Given the description of an element on the screen output the (x, y) to click on. 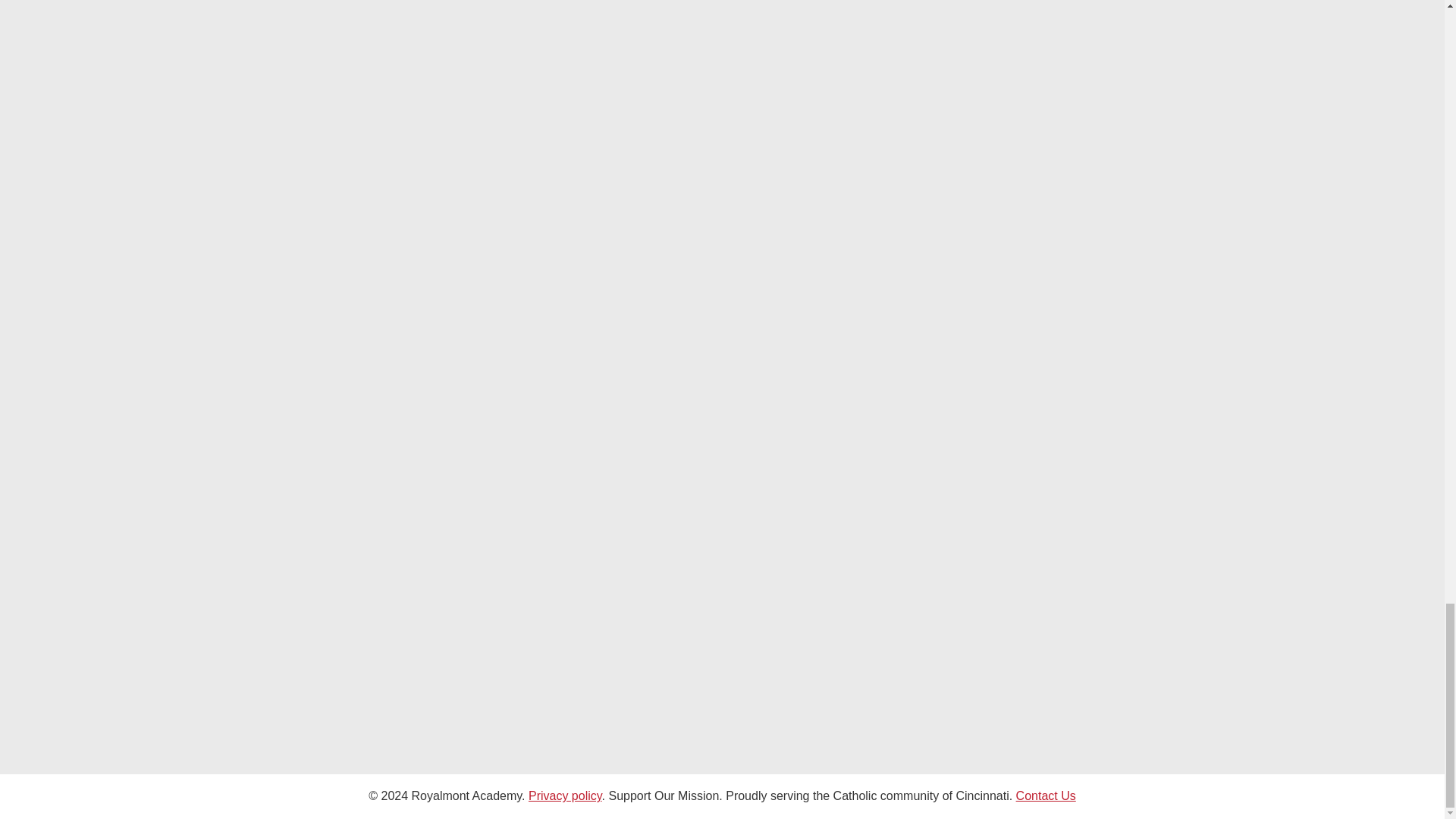
Submit (809, 678)
Contact Us (1045, 795)
Privacy policy (565, 795)
